Given the description of an element on the screen output the (x, y) to click on. 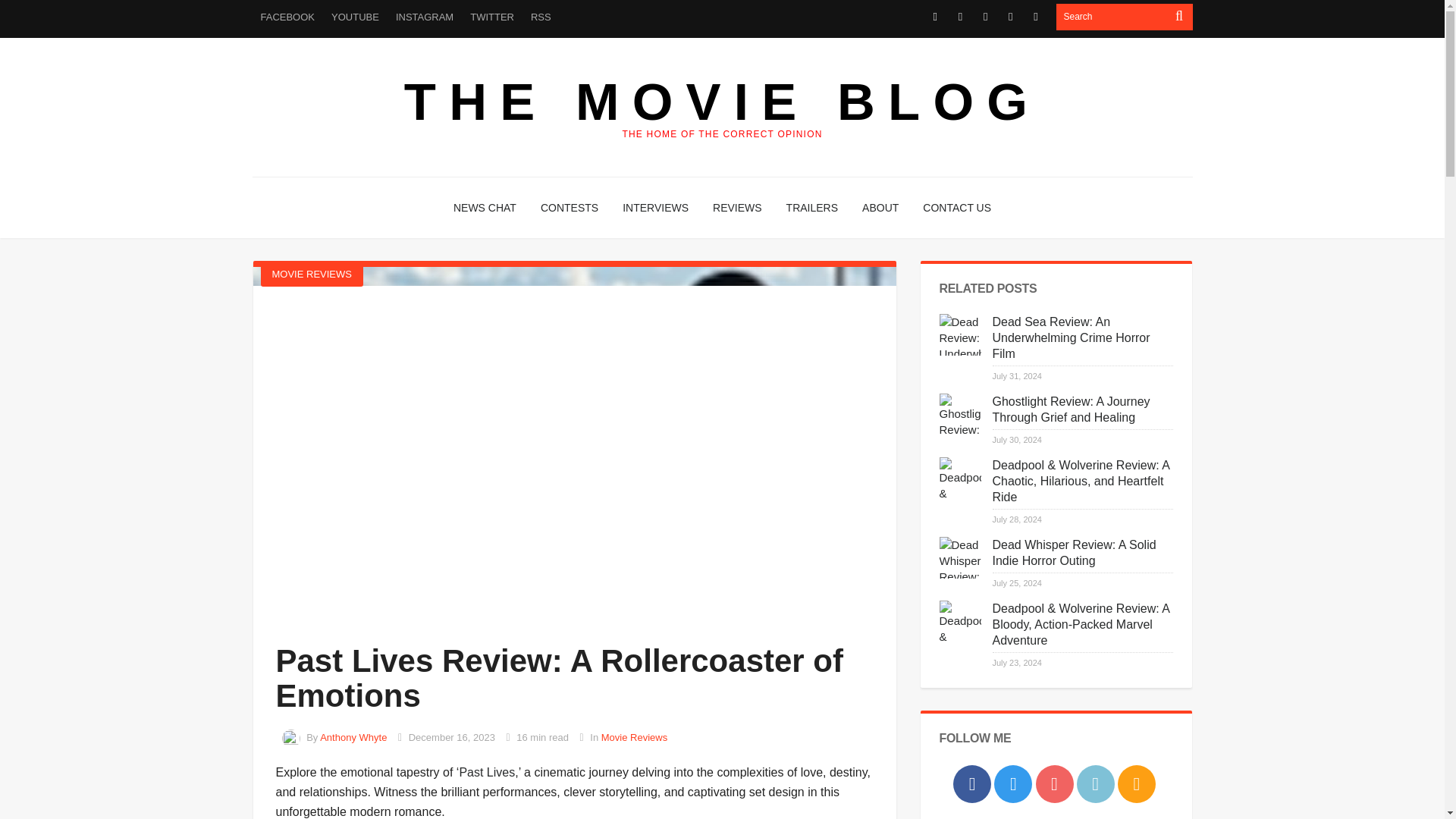
Search (1111, 17)
Facebook (935, 16)
YOUTUBE (355, 17)
Search (1111, 17)
INSTAGRAM (424, 17)
Twitter (960, 16)
NEWS CHAT (484, 207)
Rss (1035, 16)
THE MOVIE BLOG (722, 101)
CONTESTS (568, 207)
